Given the description of an element on the screen output the (x, y) to click on. 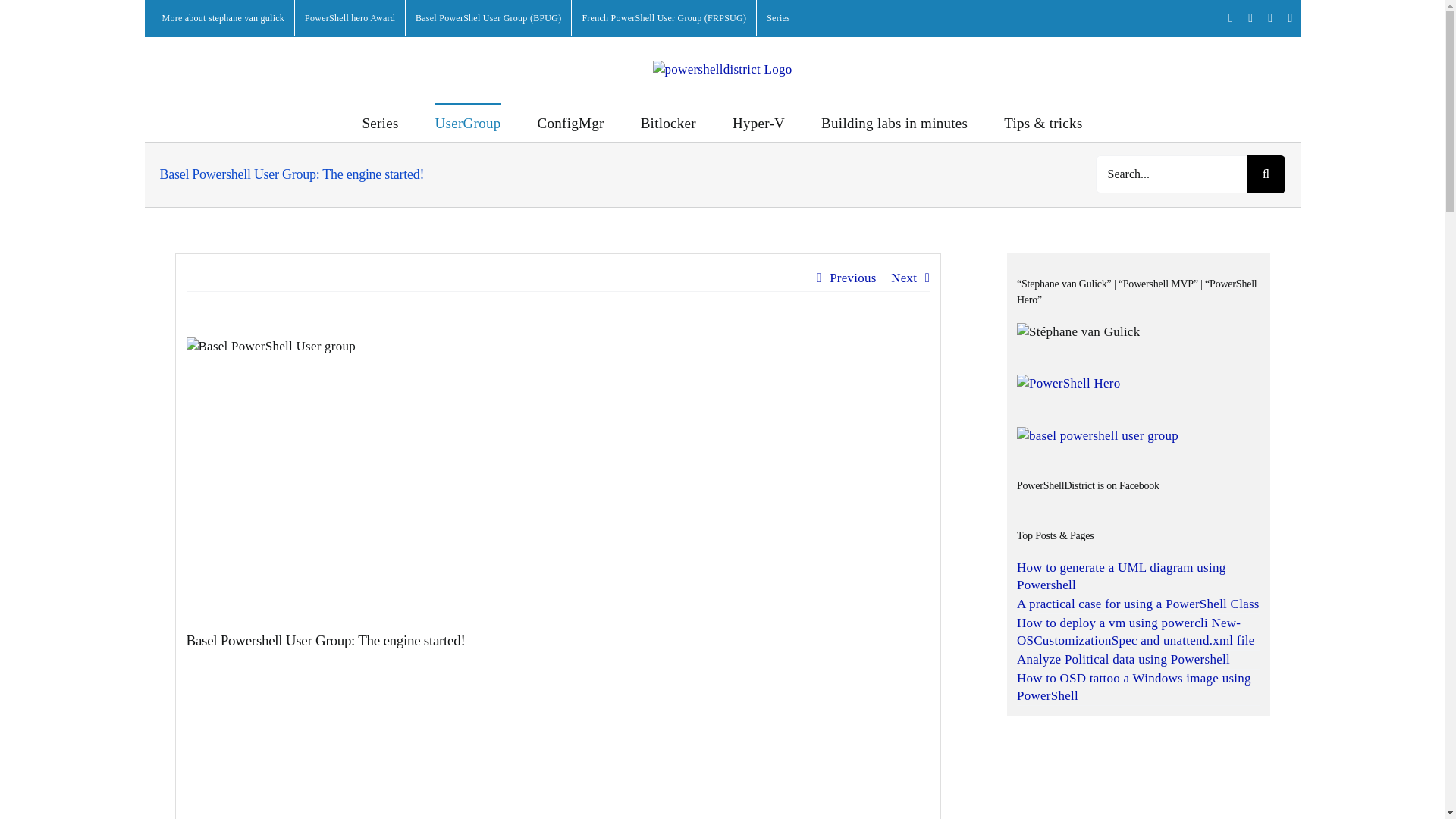
UserGroup (467, 121)
Series (778, 18)
PowerShell hero Award (349, 18)
Series (379, 121)
Advertisement (558, 734)
More about stephane van gulick (222, 18)
